Given the description of an element on the screen output the (x, y) to click on. 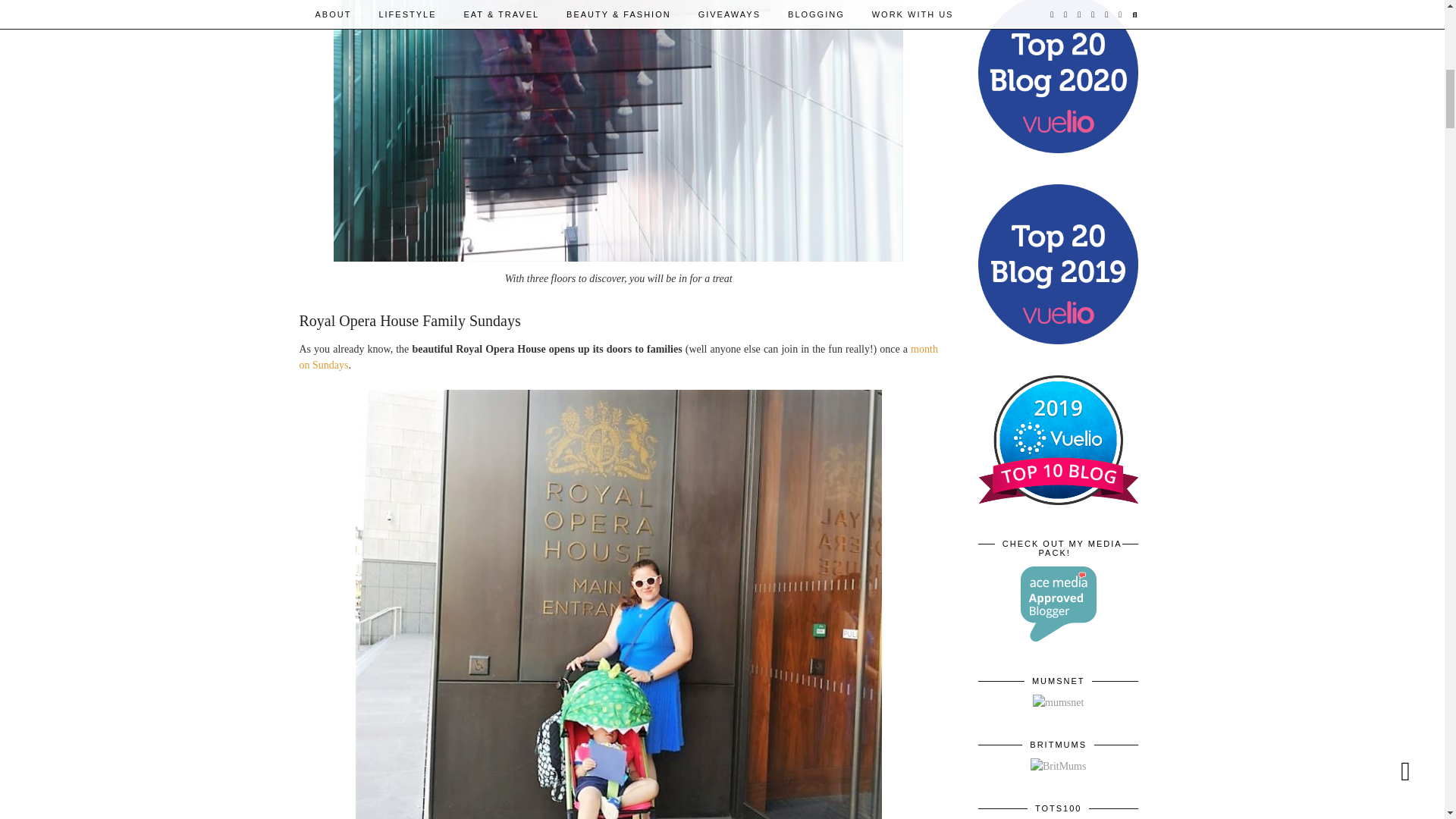
month on Sundays (617, 357)
